Given the description of an element on the screen output the (x, y) to click on. 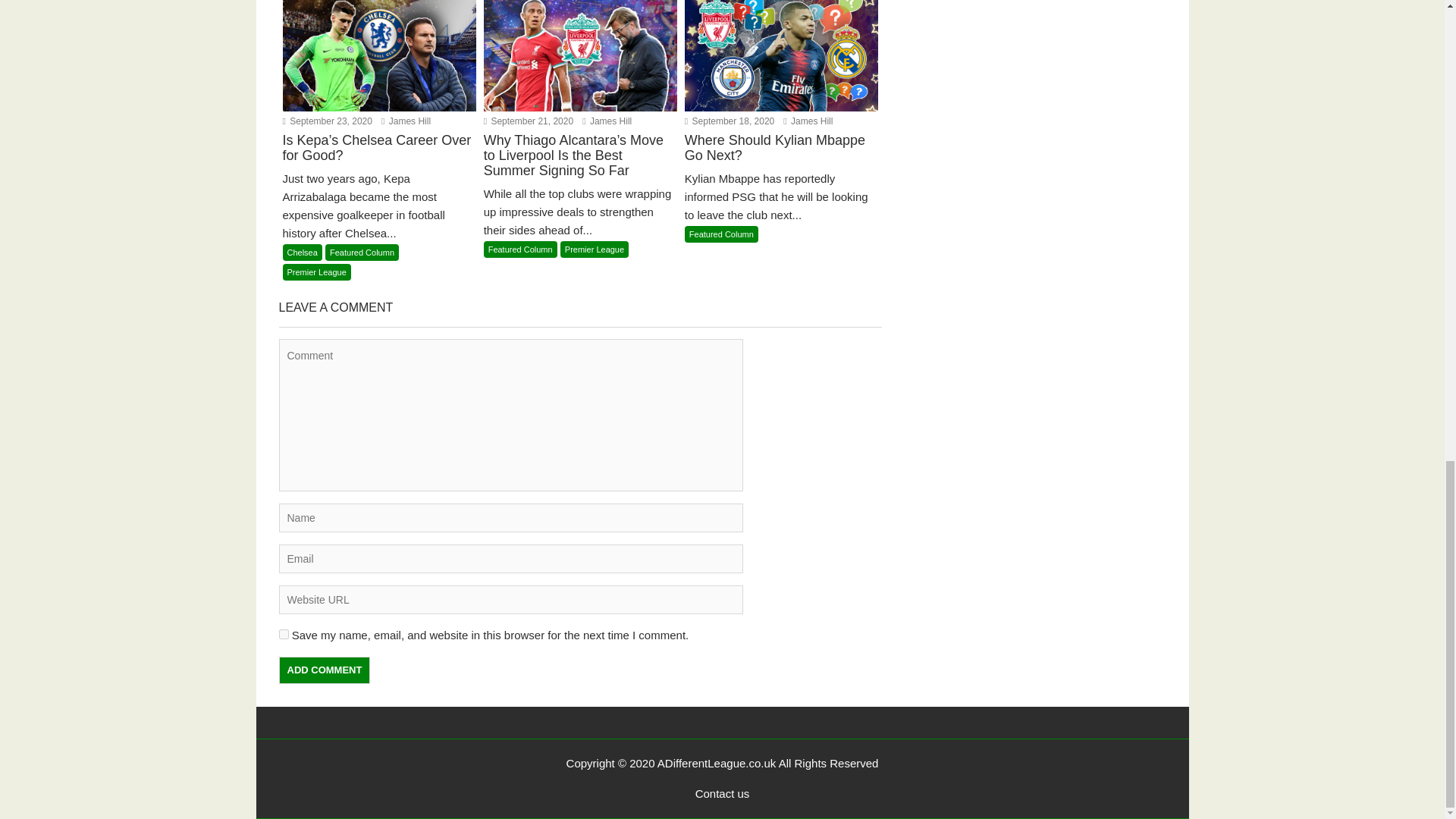
James Hill (807, 121)
yes (283, 634)
James Hill (405, 121)
James Hill (606, 121)
James Hill (606, 121)
Chelsea (301, 252)
Featured Column (361, 252)
September 21, 2020 (528, 121)
Add Comment (325, 669)
Premier League (316, 271)
September 23, 2020 (326, 121)
James Hill (405, 121)
Featured Column (520, 248)
